Given the description of an element on the screen output the (x, y) to click on. 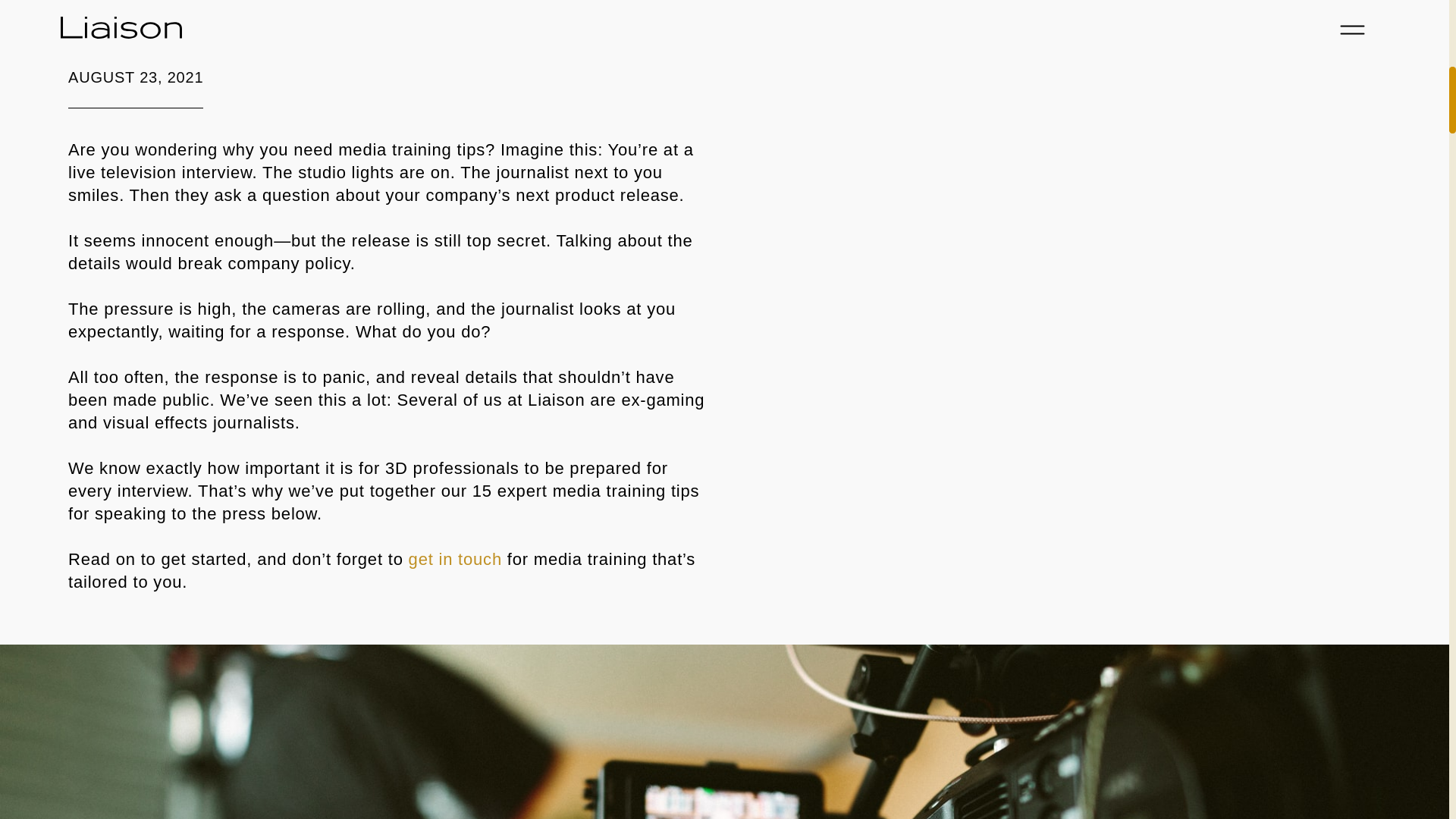
get in touch (455, 558)
